Given the description of an element on the screen output the (x, y) to click on. 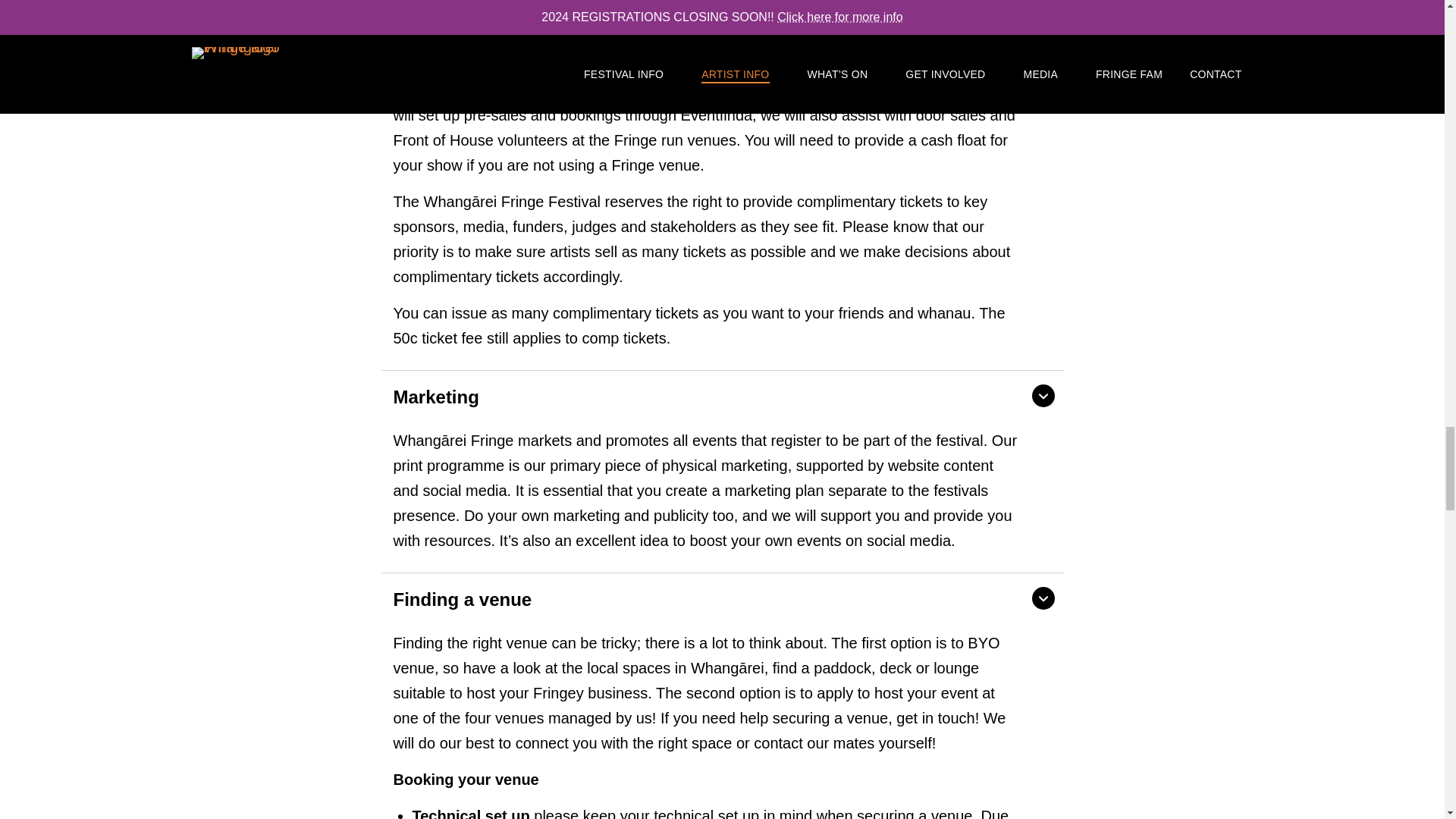
Finding a venue (721, 598)
Marketing (721, 395)
